Given the description of an element on the screen output the (x, y) to click on. 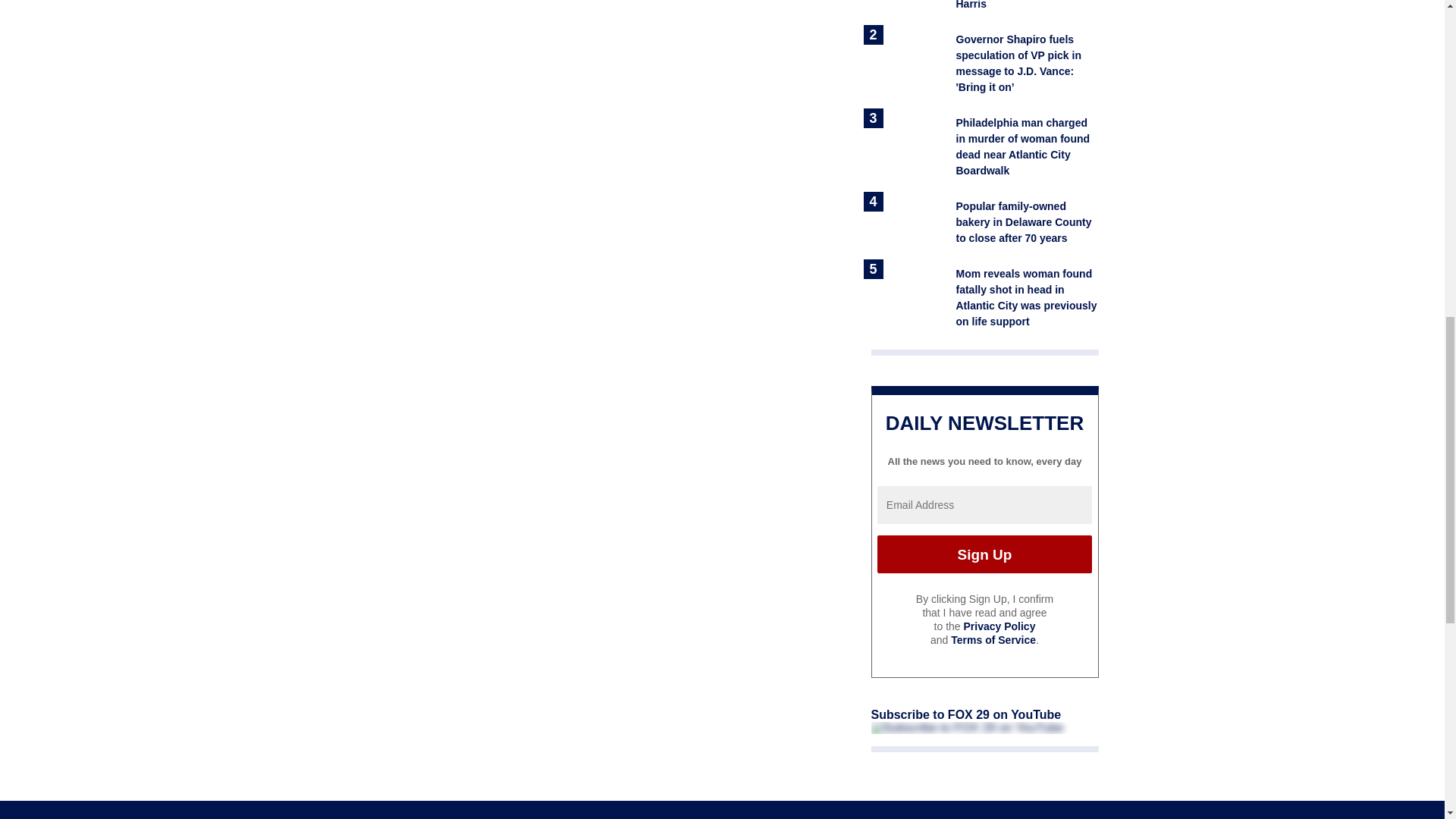
Sign Up (984, 554)
